Given the description of an element on the screen output the (x, y) to click on. 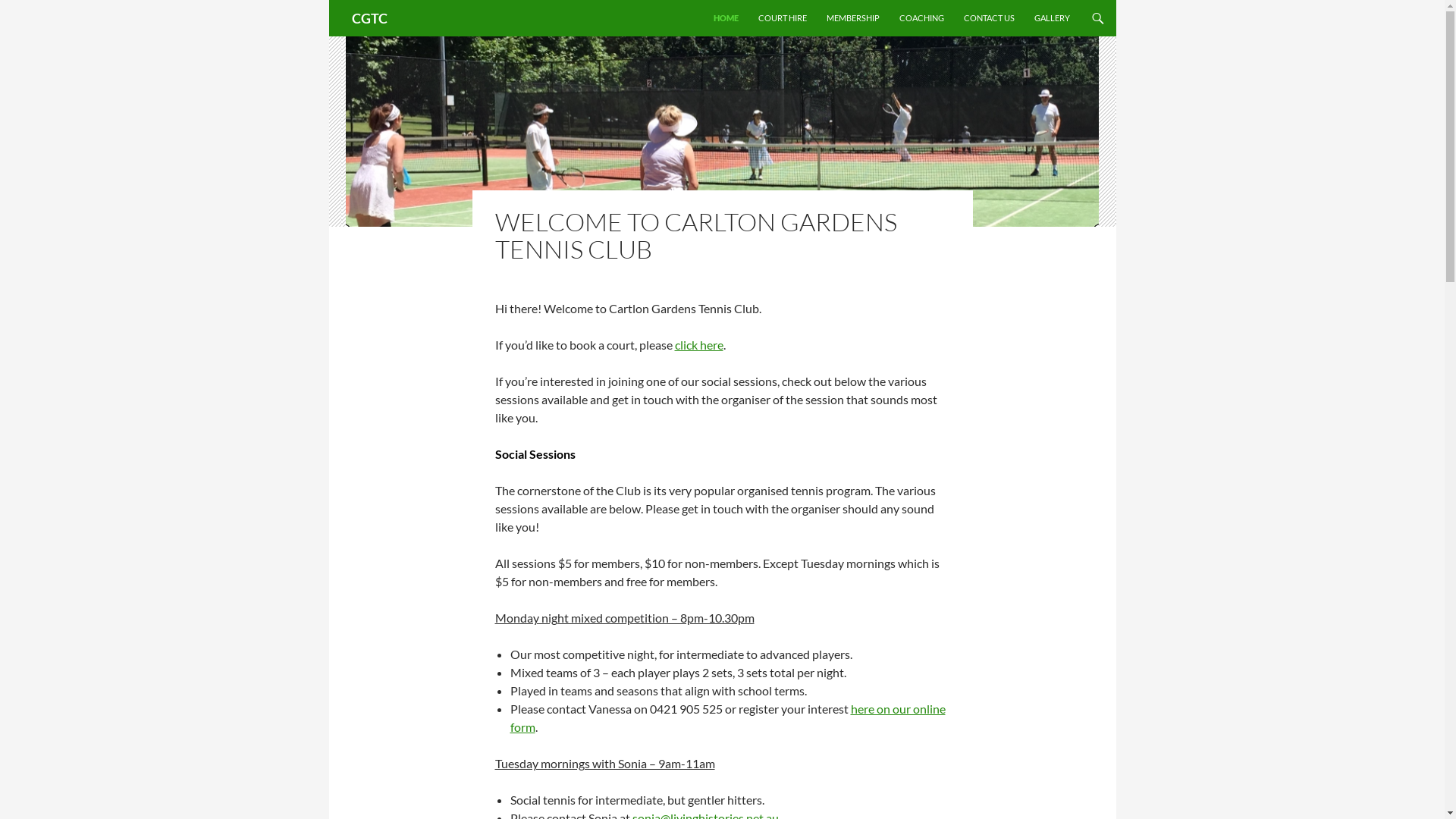
MEMBERSHIP Element type: text (852, 18)
GALLERY Element type: text (1052, 18)
CGTC Element type: text (369, 18)
HOME Element type: text (724, 18)
CONTACT US Element type: text (987, 18)
COACHING Element type: text (921, 18)
here on our online form Element type: text (726, 717)
COURT HIRE Element type: text (782, 18)
click here Element type: text (698, 344)
